Given the description of an element on the screen output the (x, y) to click on. 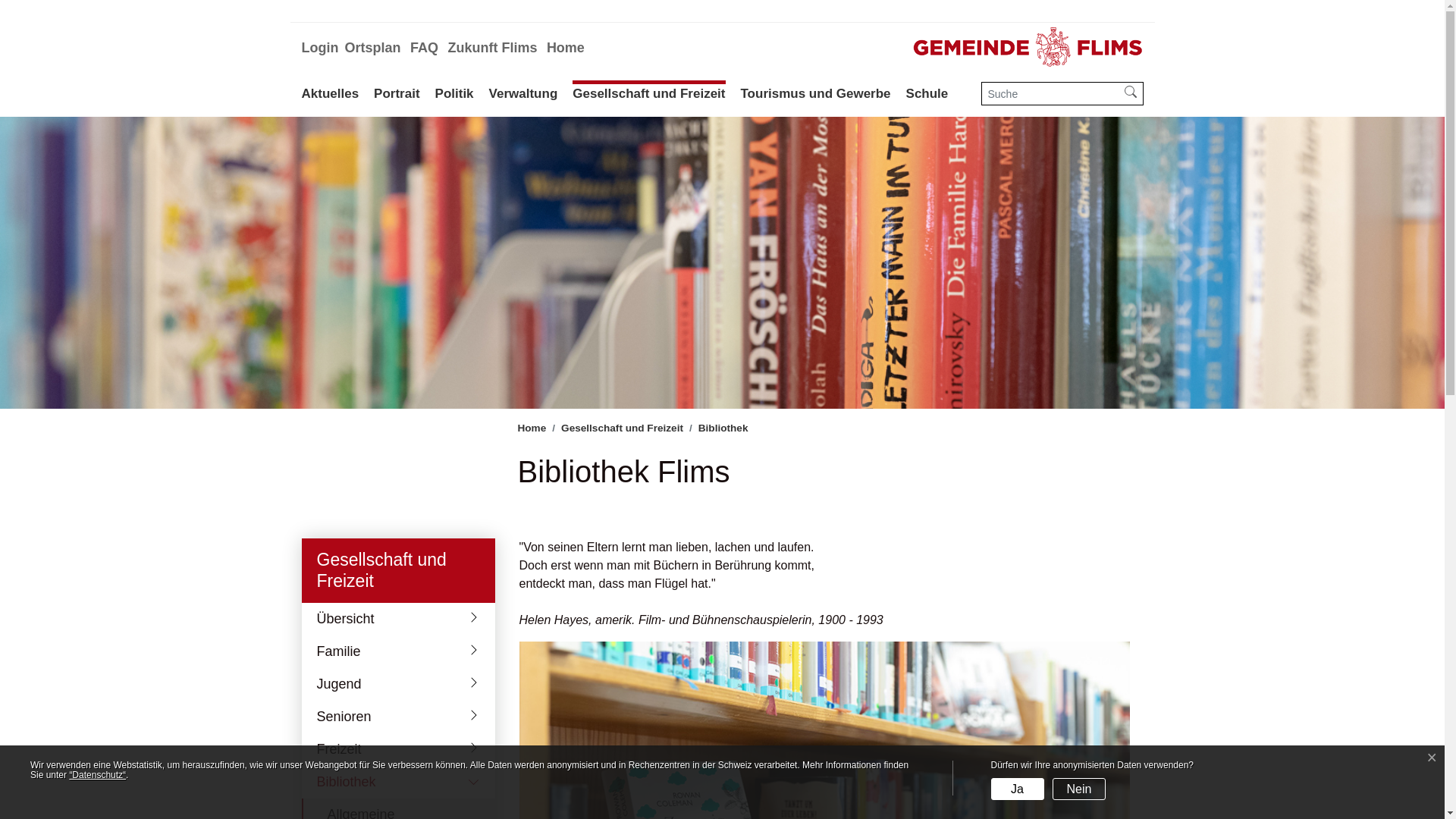
Familie Element type: text (398, 651)
Flims Element type: text (1028, 46)
Gesellschaft und Freizeit Element type: text (622, 428)
Schule Element type: text (927, 91)
Tourismus und Gewerbe Element type: text (815, 91)
Gesellschaft und Freizeit Element type: text (648, 91)
Jugend Element type: text (398, 684)
Senioren Element type: text (398, 716)
FAQ Element type: text (424, 47)
Freizeit Element type: text (398, 749)
Ortsplan Element type: text (372, 47)
Home Element type: text (531, 428)
Verwaltung Element type: text (523, 91)
Portrait Element type: text (396, 91)
Home Element type: text (565, 47)
Suche Element type: text (1129, 93)
Aktuelles Element type: text (330, 91)
Politik Element type: text (454, 91)
Login Element type: text (319, 47)
Nein Element type: text (1078, 789)
Ja Element type: text (1017, 789)
Zukunft Flims Element type: text (491, 47)
